Given the description of an element on the screen output the (x, y) to click on. 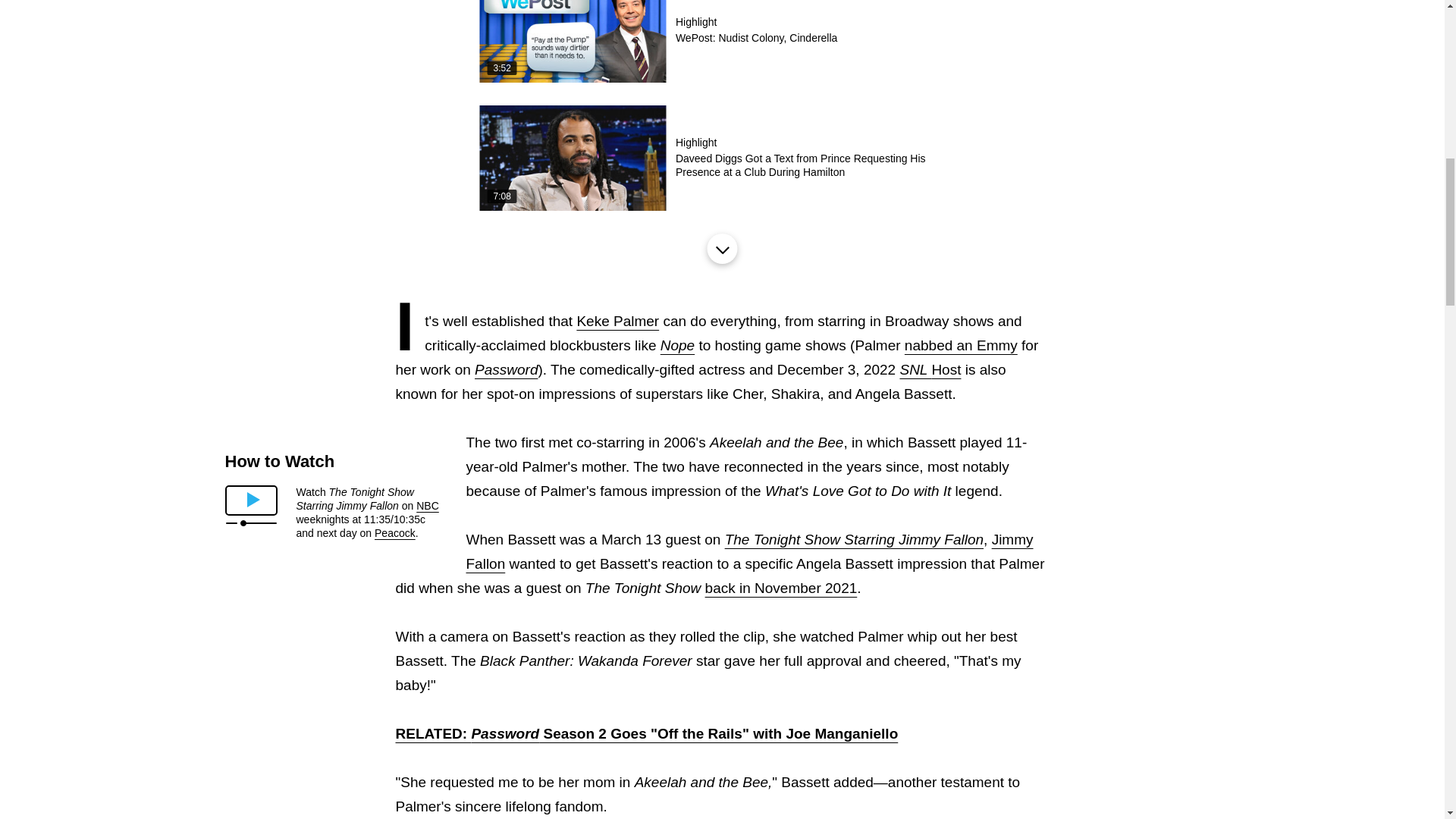
Load More (721, 248)
Password (505, 369)
Nope (677, 344)
The Tonight Show Starring Jimmy Fallon (854, 539)
Peacock (394, 532)
Jimmy Fallon (748, 551)
NBC (721, 41)
back in November 2021 (427, 505)
